Given the description of an element on the screen output the (x, y) to click on. 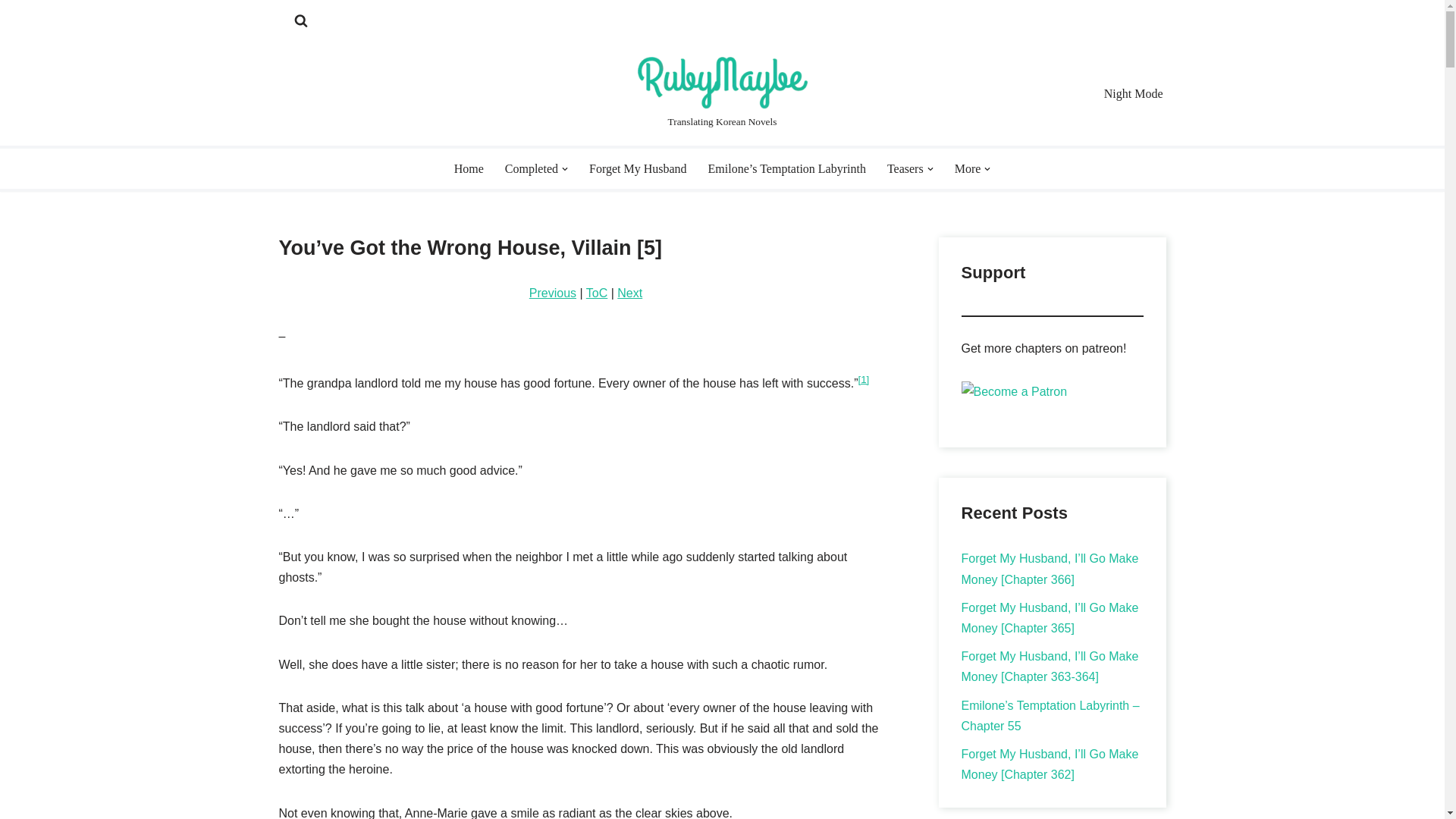
Forget My Husband (638, 168)
More (968, 168)
ToC (596, 292)
Teasers (904, 168)
Previous (552, 292)
Home (468, 168)
Skip to content (11, 31)
Completed (531, 168)
Night Mode (1133, 93)
Translating Korean Novels (721, 92)
